Given the description of an element on the screen output the (x, y) to click on. 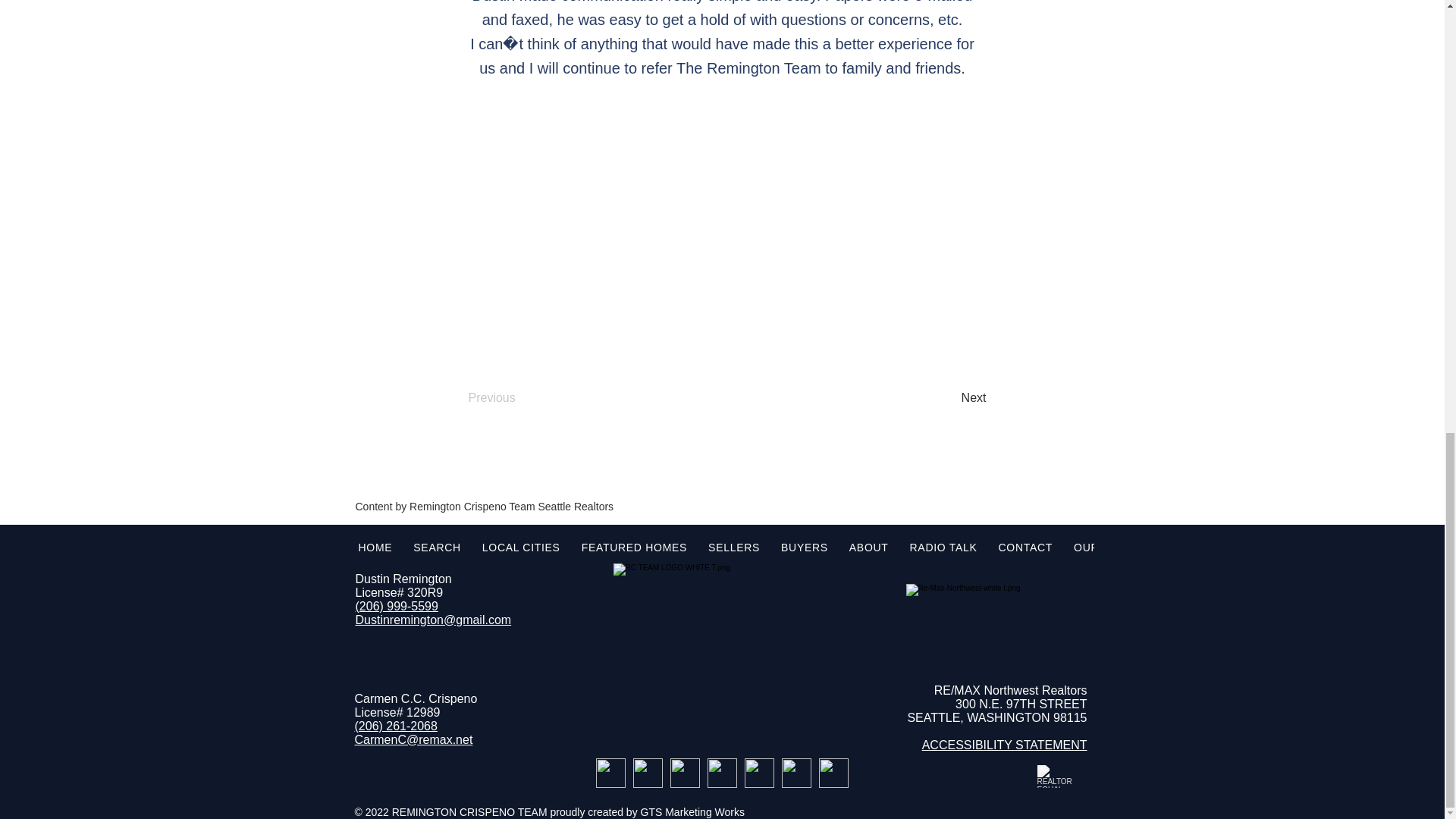
SEARCH (437, 547)
Previous (518, 398)
Next (947, 398)
HOME (374, 547)
